Given the description of an element on the screen output the (x, y) to click on. 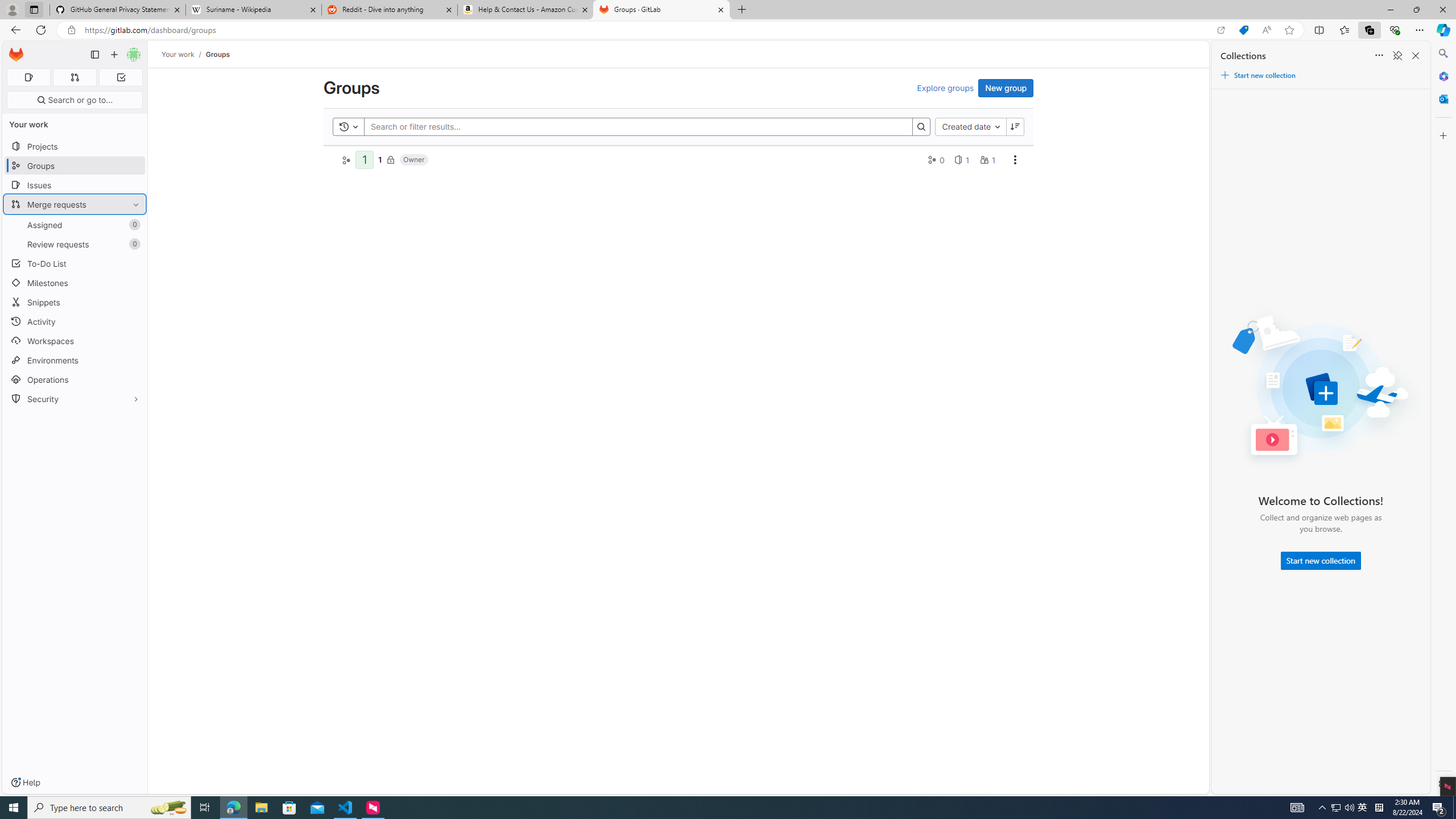
Explore groups (945, 87)
Review requests0 (74, 244)
Projects (74, 145)
Assigned0 (74, 224)
To-Do list 0 (120, 76)
Snippets (74, 302)
To-Do List (74, 262)
Assigned 0 (74, 224)
